Given the description of an element on the screen output the (x, y) to click on. 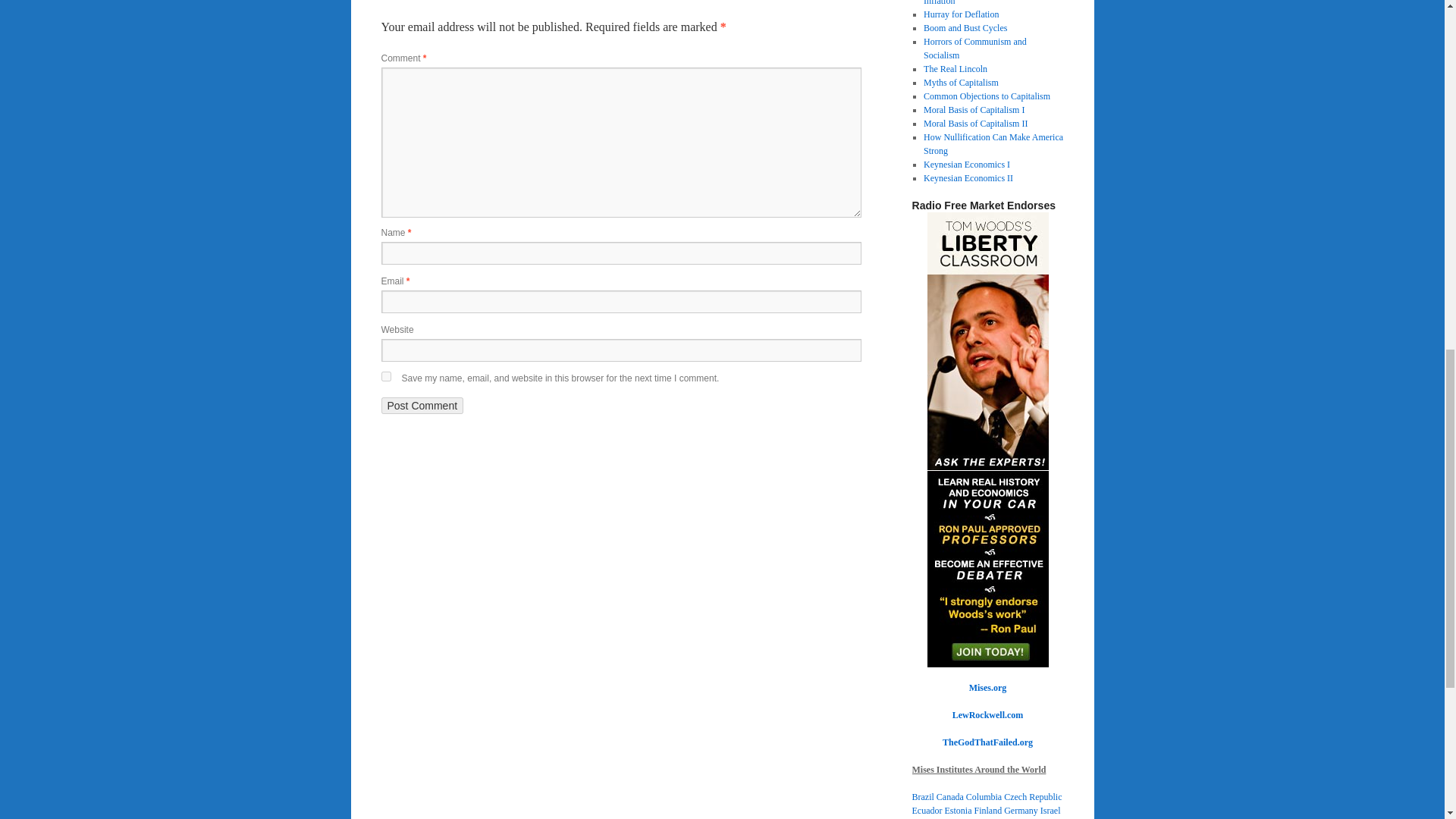
Post Comment (421, 405)
Common Objections to Capitalism (986, 95)
Boom and Bust Cycles (965, 27)
Keynesian Economics I (966, 163)
Post Comment (421, 405)
Moral Basis of Capitalism I (974, 109)
How Nullification Can Make America Strong (992, 143)
Myths of Capitalism (960, 81)
Horrors of Communism and Socialism (974, 48)
yes (385, 376)
Moral Basis of Capitalism II (975, 122)
The Real Lincoln (955, 68)
Hurray for Deflation (960, 14)
Keynesian Economics II (968, 177)
